Given the description of an element on the screen output the (x, y) to click on. 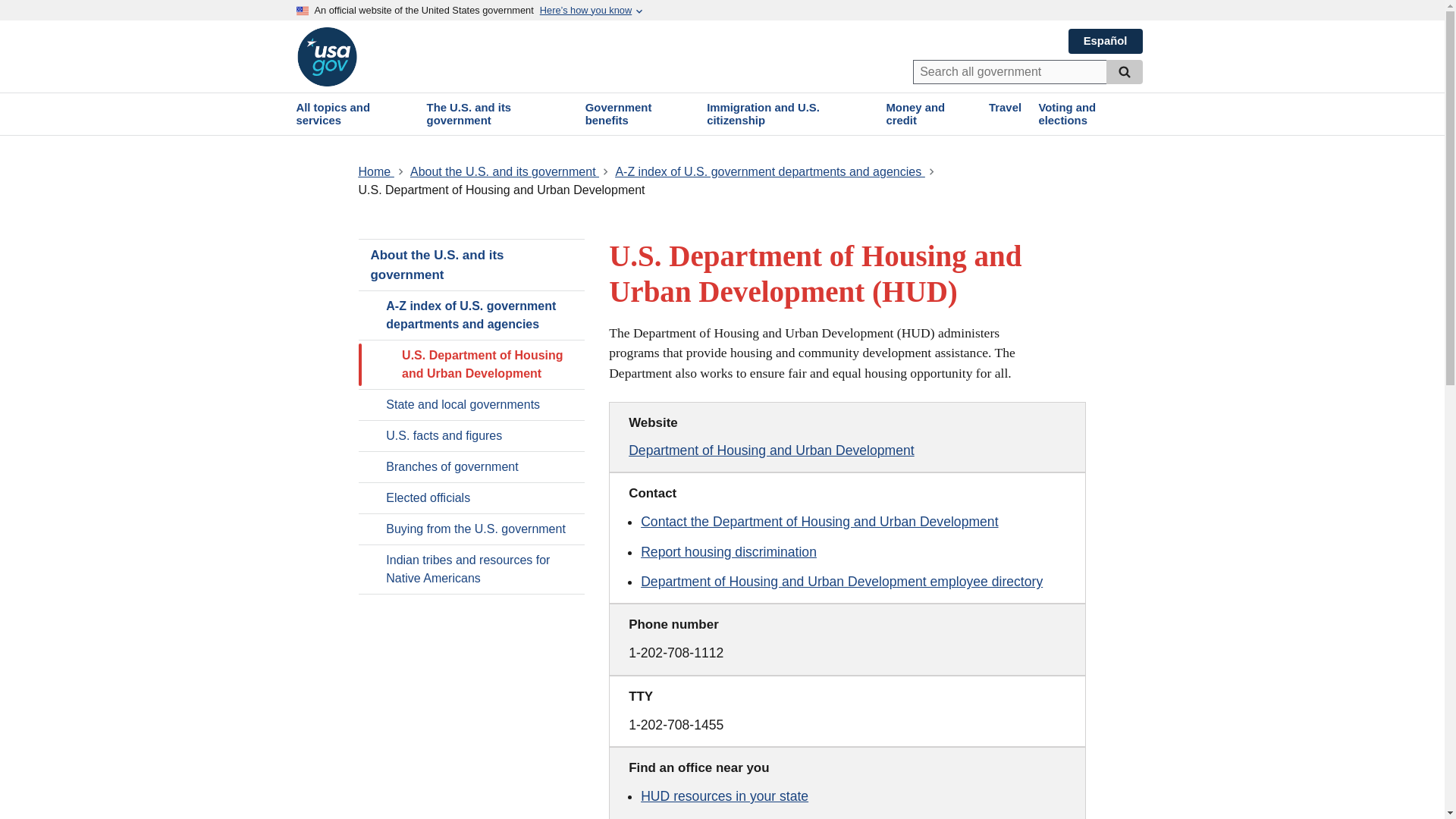
About the U.S. and its government (471, 264)
Department of Housing and Urban Development (771, 450)
Contact the Department of Housing and Urban Development (818, 521)
Elected officials (471, 498)
Indian tribes and resources for Native Americans (471, 569)
U.S. facts and figures (471, 435)
A-Z index of U.S. government departments and agencies (471, 315)
Branches of government (471, 467)
A-Z index of U.S. government departments and agencies (769, 171)
Home (375, 171)
U.S. Department of Housing and Urban Development (471, 364)
Money and credit (928, 114)
Report housing discrimination (728, 551)
Government benefits (637, 114)
Voting and elections (1088, 114)
